Given the description of an element on the screen output the (x, y) to click on. 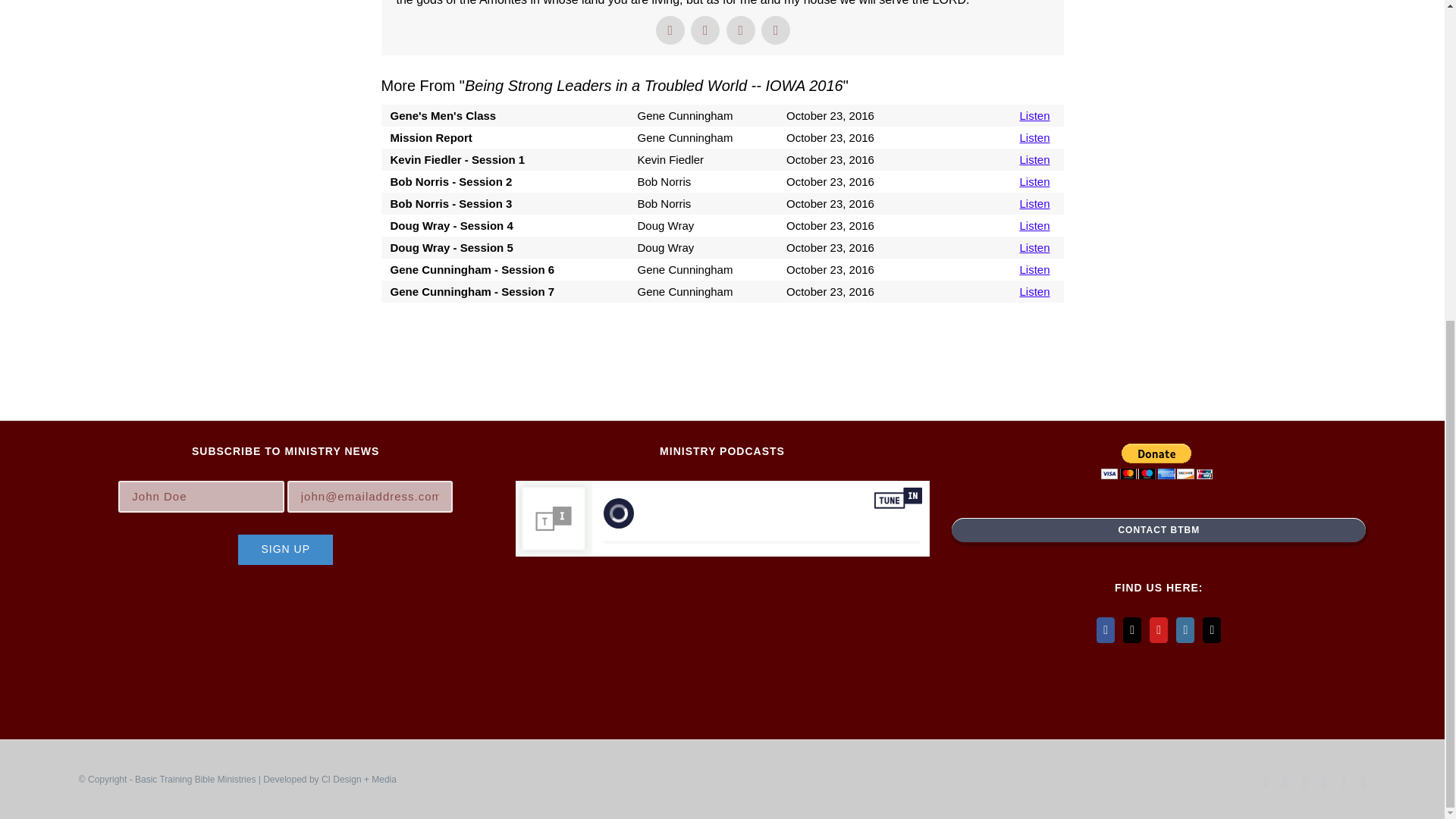
Sign up (284, 549)
